Given the description of an element on the screen output the (x, y) to click on. 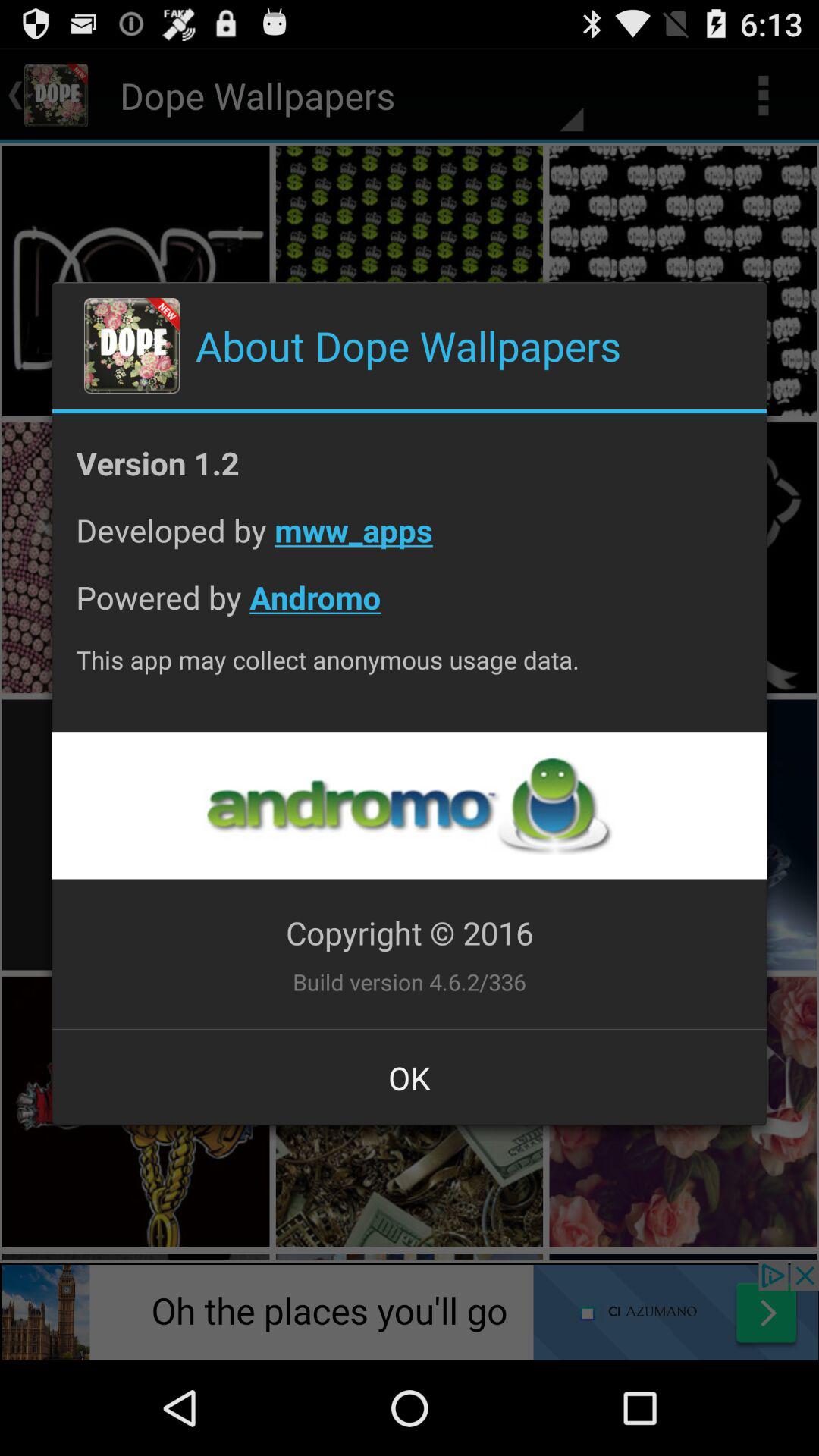
press the app below build version 4 item (409, 1077)
